Given the description of an element on the screen output the (x, y) to click on. 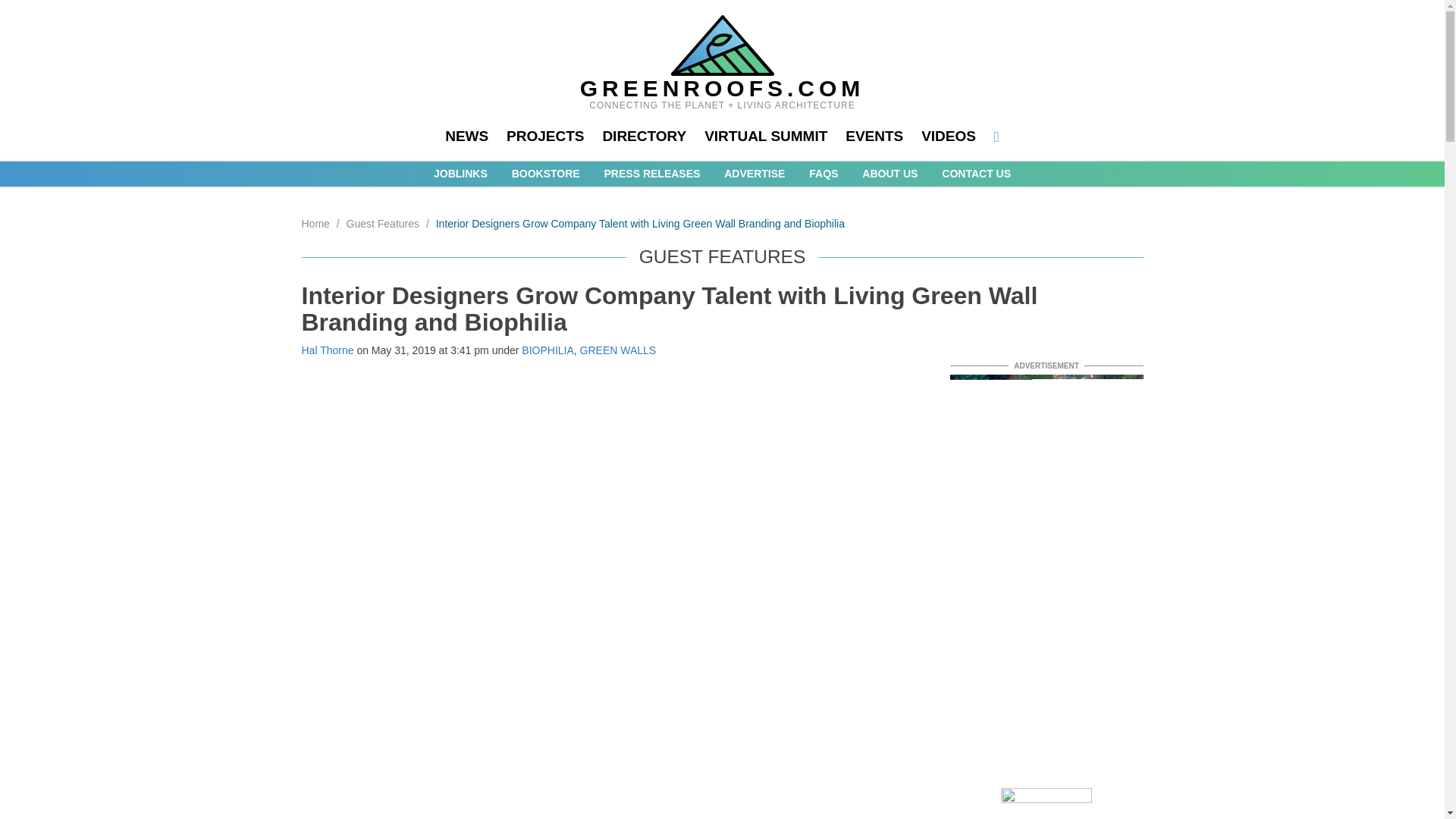
JOBLINKS (460, 173)
NEWS (466, 135)
PROJECTS (544, 135)
Home (315, 223)
PRESS RELEASES (652, 173)
DIRECTORY (643, 135)
FAQS (823, 173)
Guest Features (383, 223)
ADVERTISE (753, 173)
BIOPHILIA (547, 349)
VIDEOS (948, 135)
EVENTS (873, 135)
Hal Thorne (327, 349)
VIRTUAL SUMMIT (765, 135)
ABOUT US (889, 173)
